Given the description of an element on the screen output the (x, y) to click on. 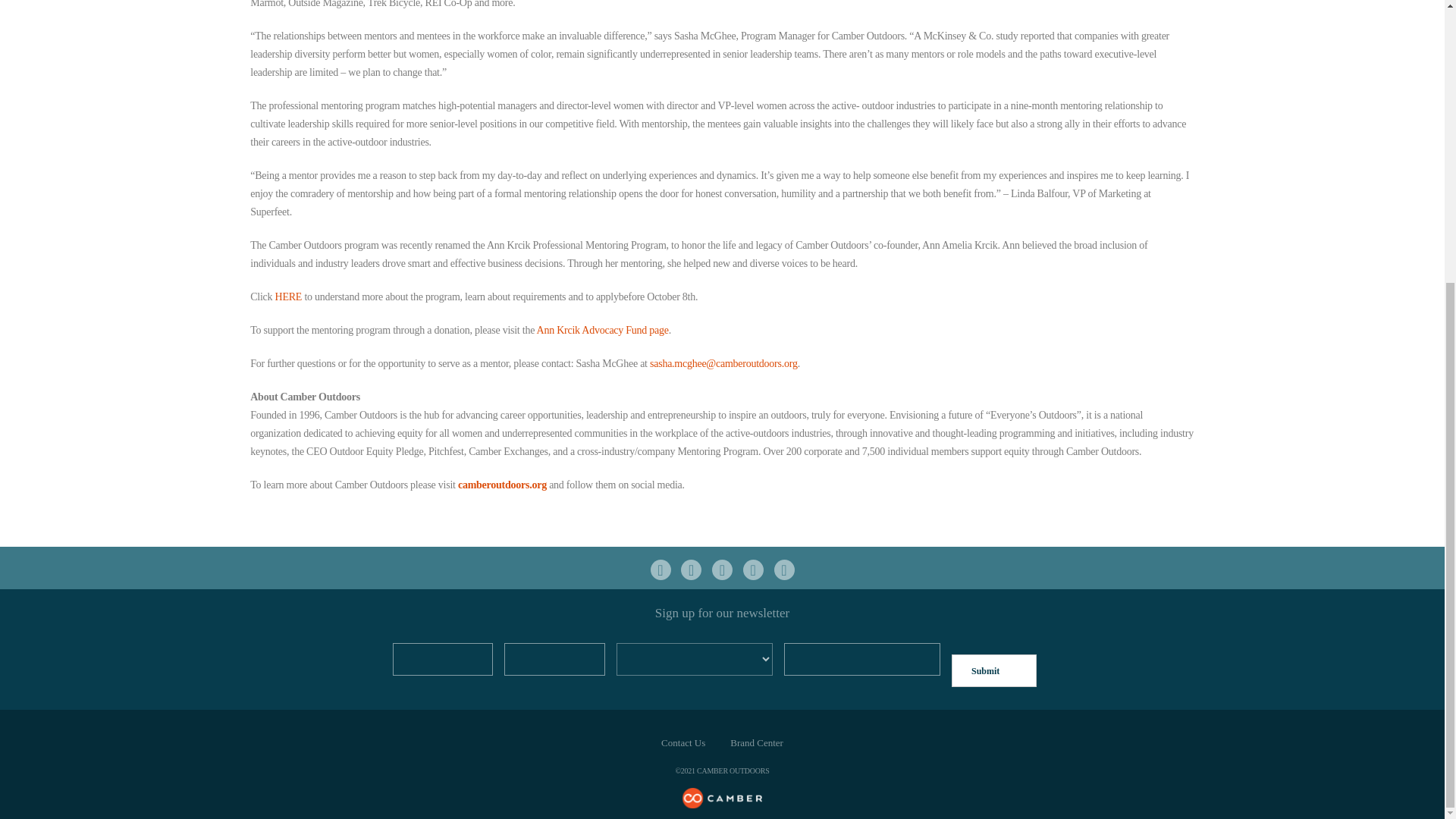
HERE (288, 296)
Submit (994, 670)
camberoutdoors.org (502, 484)
Ann Krcik Advocacy Fund page (602, 329)
